Given the description of an element on the screen output the (x, y) to click on. 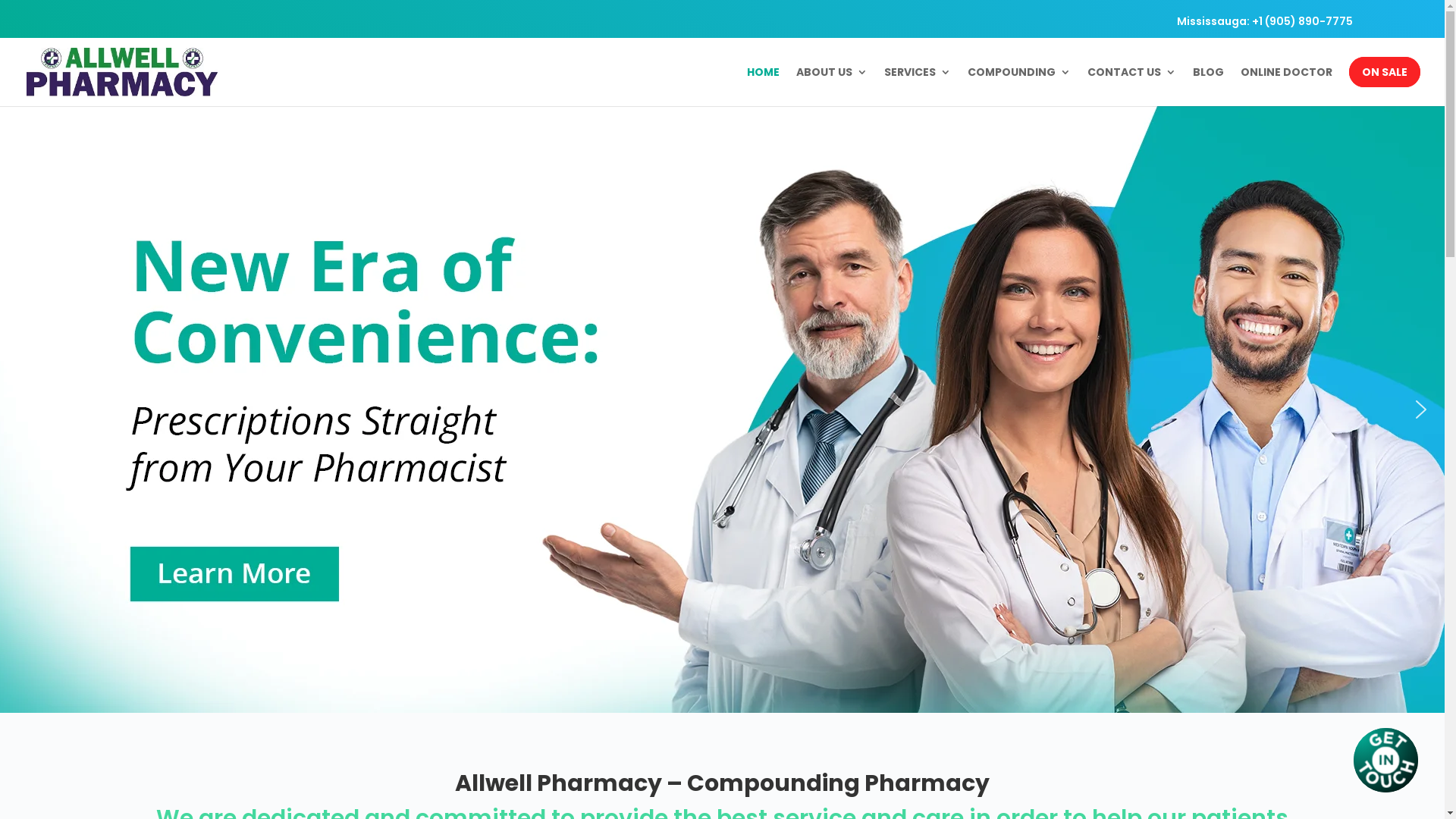
ON SALE Element type: text (1384, 86)
SERVICES Element type: text (917, 86)
HOME Element type: text (762, 86)
ABOUT US Element type: text (831, 86)
Mississauga: +1 (905) 890-7775 Element type: text (1264, 24)
BLOG Element type: text (1207, 86)
CONTACT US Element type: text (1131, 86)
COMPOUNDING Element type: text (1018, 86)
ONLINE DOCTOR Element type: text (1286, 86)
